Given the description of an element on the screen output the (x, y) to click on. 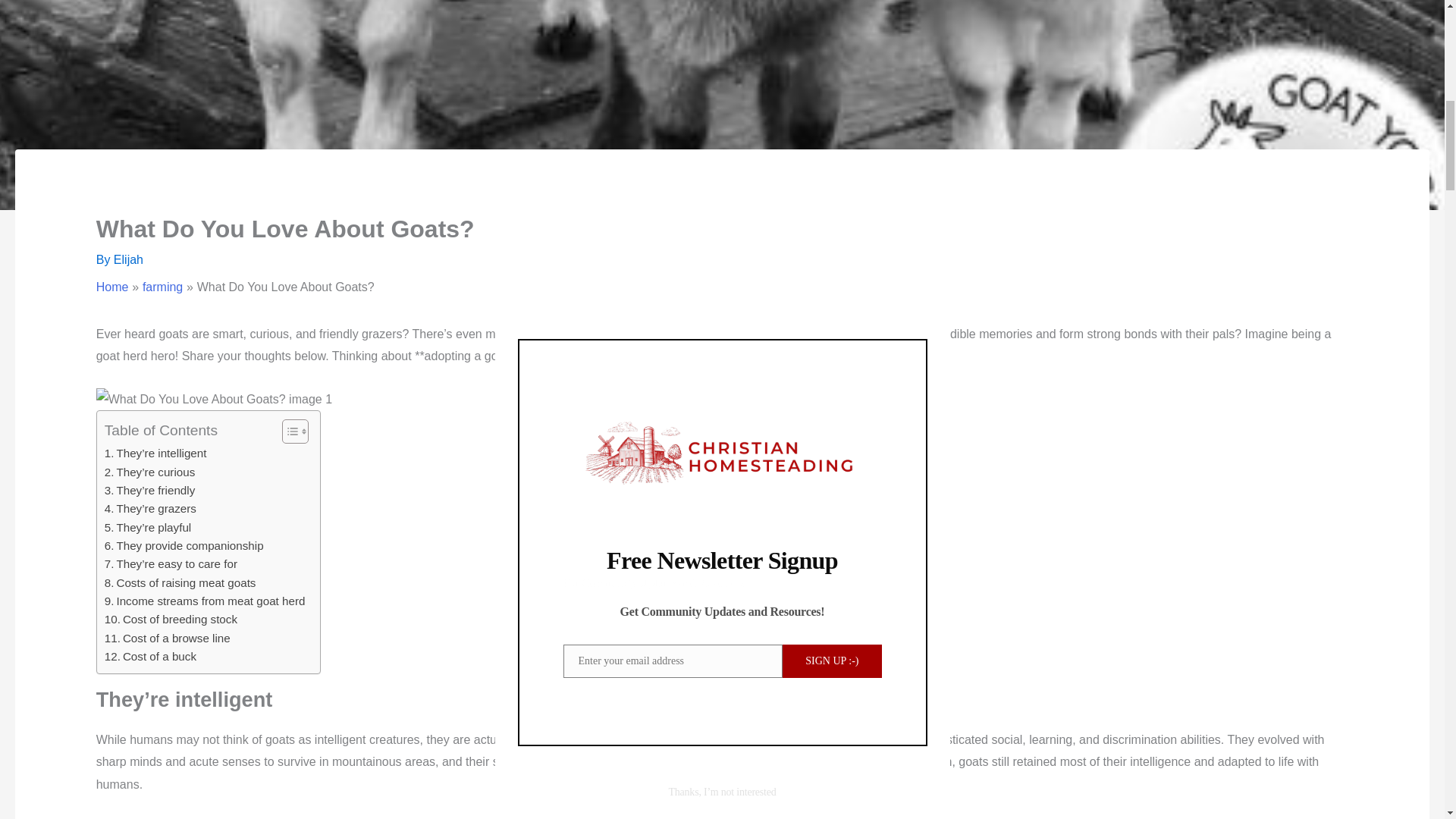
Income streams from meat goat herd (204, 601)
View all posts by Elijah (127, 259)
They provide companionship (183, 546)
Cost of breeding stock (170, 619)
Photo What Do You Love About Goats? 0 (213, 399)
Cost of a browse line (167, 638)
Costs of raising meat goats (180, 583)
